Given the description of an element on the screen output the (x, y) to click on. 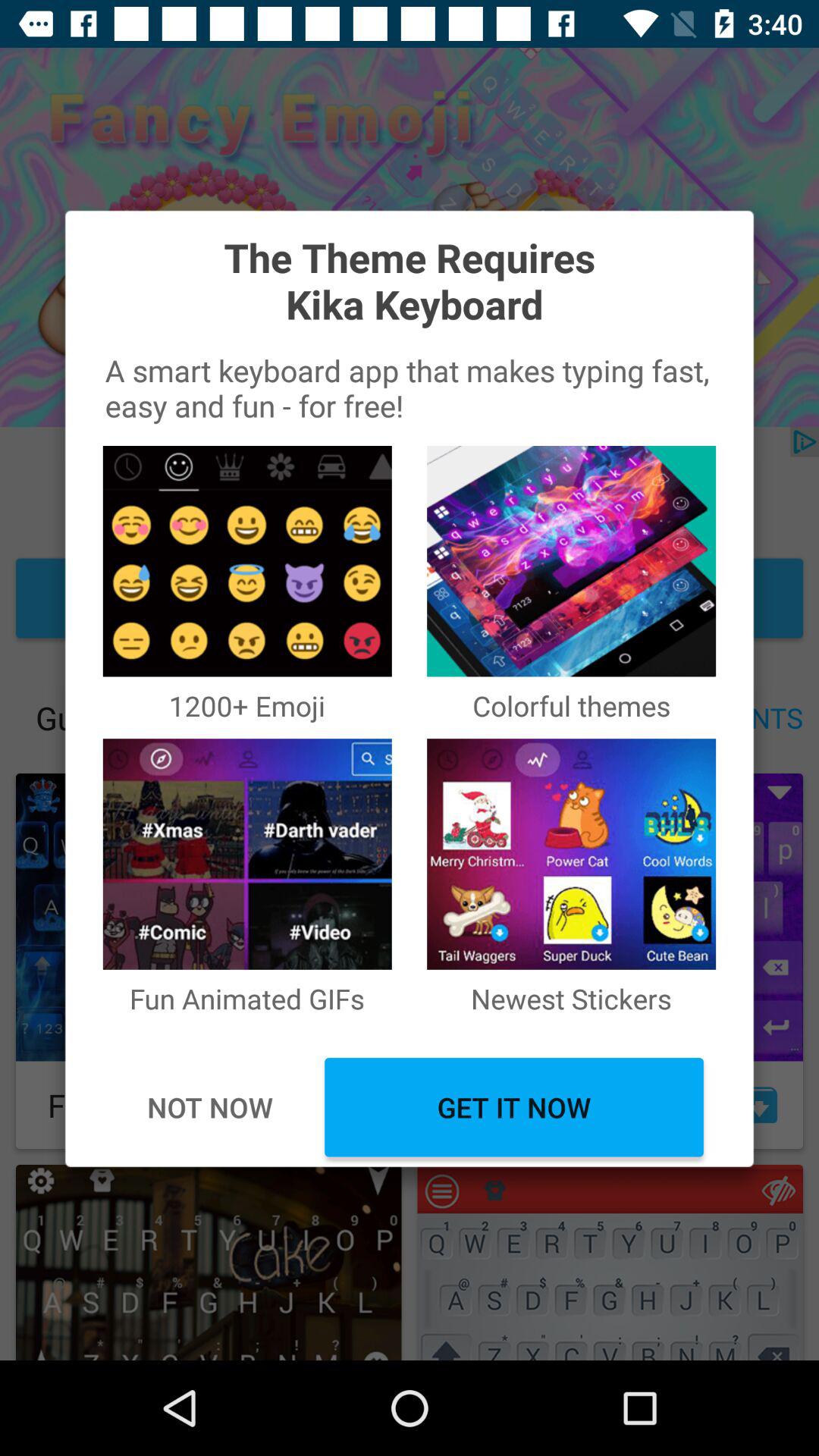
launch item below fun animated gifs (513, 1106)
